Given the description of an element on the screen output the (x, y) to click on. 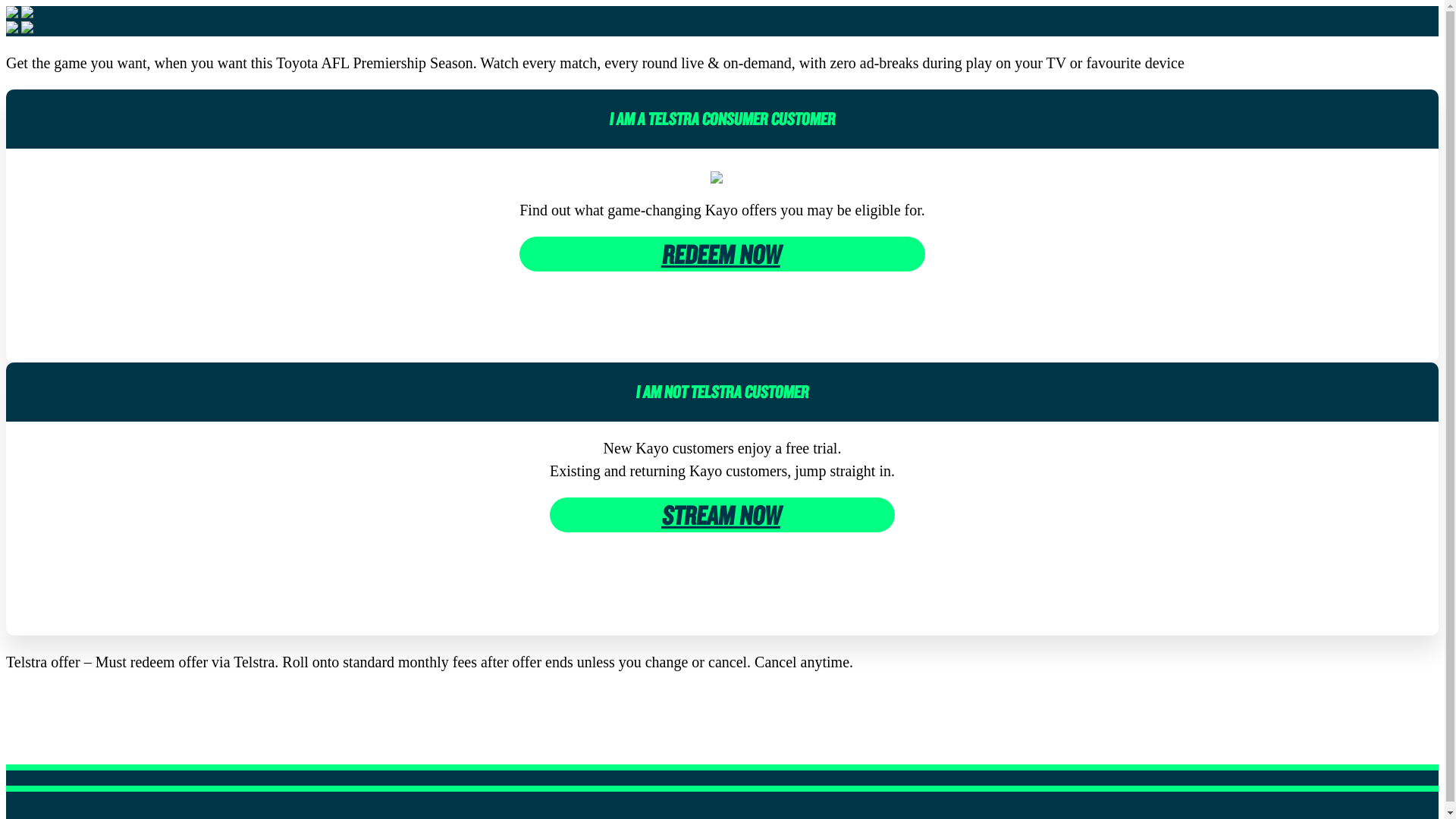
STREAM NOW Element type: text (721, 514)
REDEEM NOW Element type: text (722, 253)
